Given the description of an element on the screen output the (x, y) to click on. 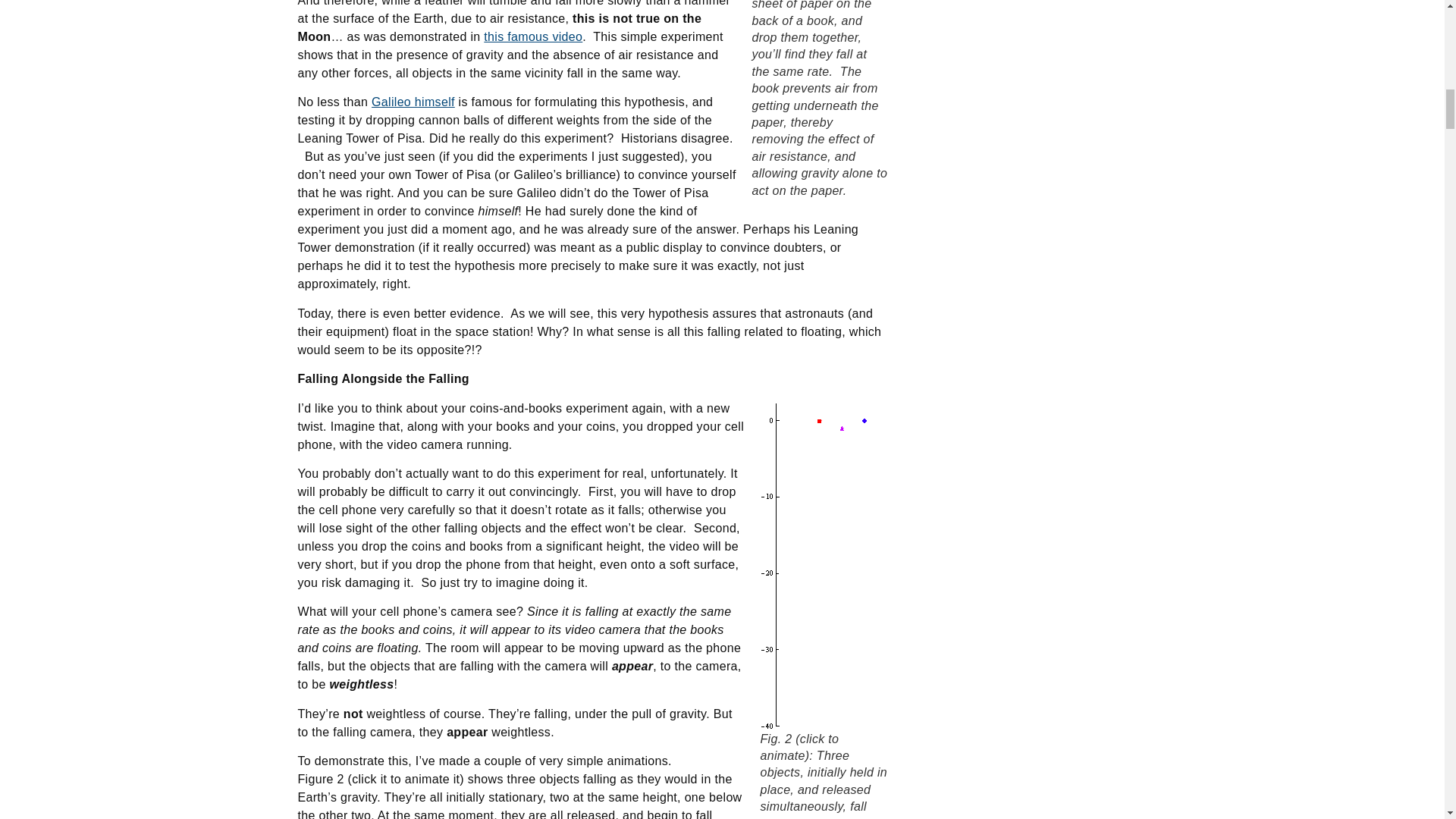
this famous video (532, 36)
Galileo himself (412, 101)
